Given the description of an element on the screen output the (x, y) to click on. 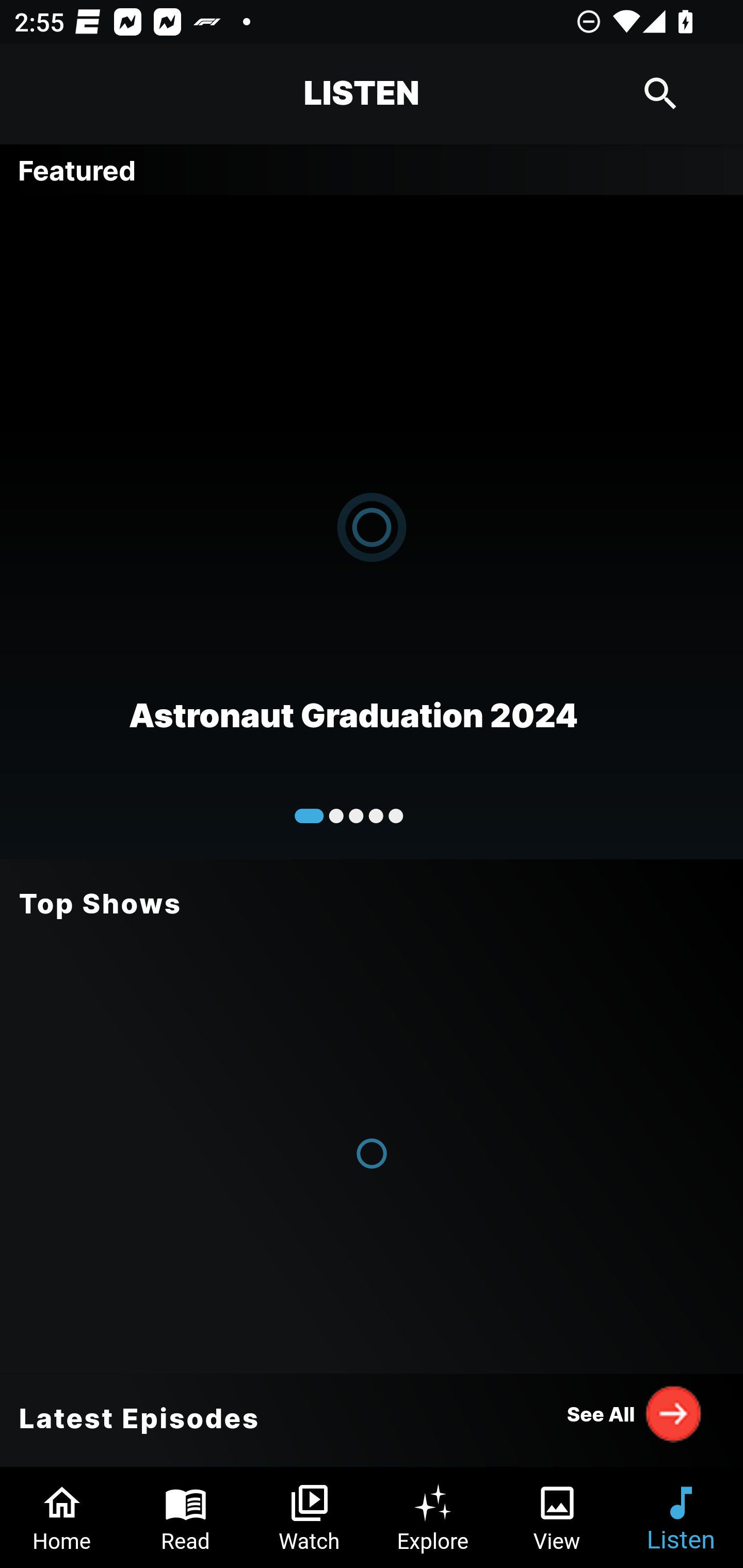
Astronaut Graduation 2024 (371, 526)
See All (634, 1413)
Home
Tab 1 of 6 (62, 1517)
Read
Tab 2 of 6 (185, 1517)
Watch
Tab 3 of 6 (309, 1517)
Explore
Tab 4 of 6 (433, 1517)
View
Tab 5 of 6 (556, 1517)
Listen
Tab 6 of 6 (680, 1517)
